Given the description of an element on the screen output the (x, y) to click on. 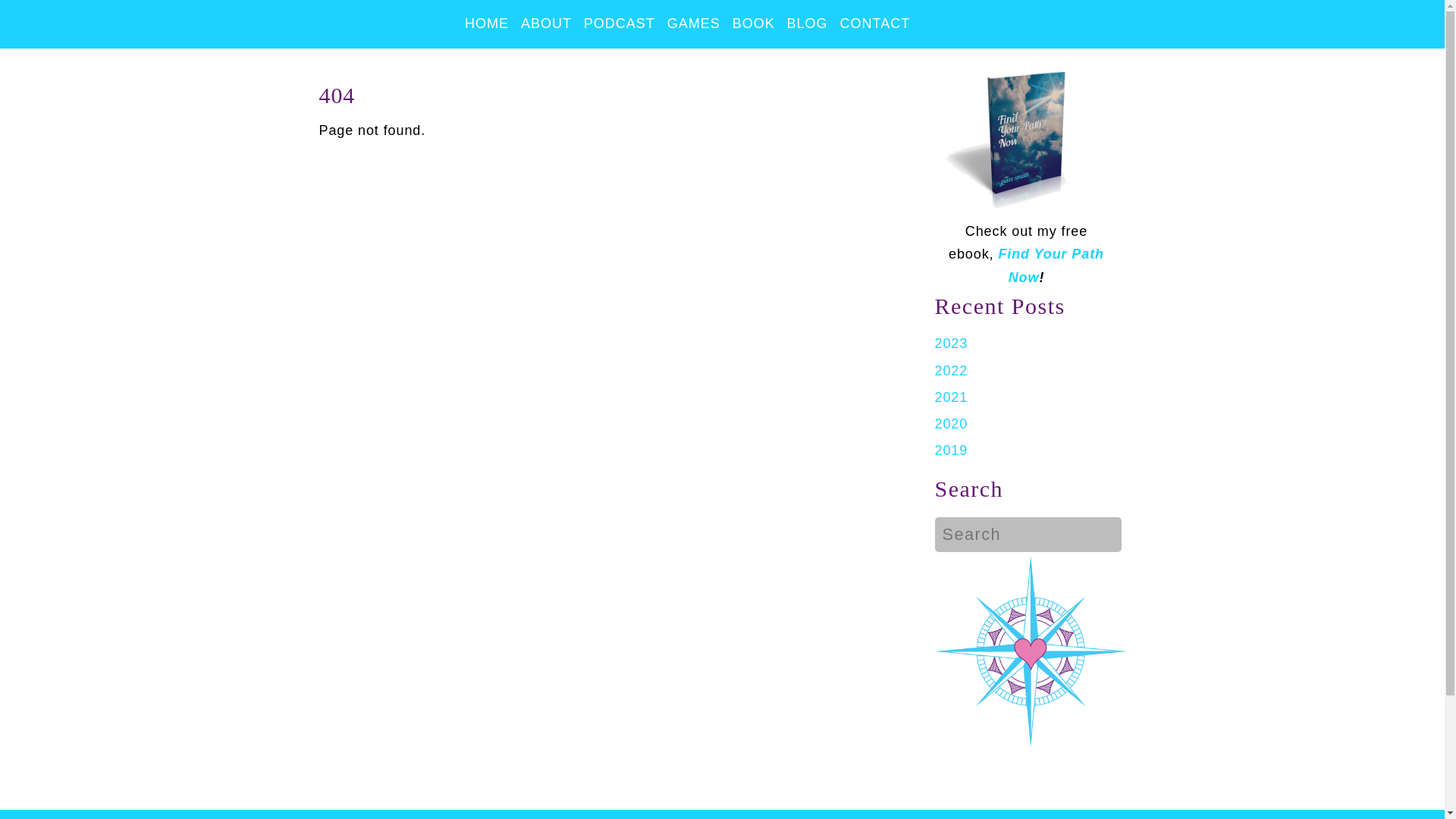
2020 (951, 423)
Find Your Path Now (1050, 265)
BLOG (807, 24)
PODCAST (619, 24)
2019 (951, 450)
TWITTER (968, 24)
FACEBOOK (933, 24)
GAMES (693, 24)
BOOK (753, 24)
ABOUT (545, 24)
2021 (951, 396)
2023 (951, 343)
CONTACT (874, 24)
HOME (486, 24)
2022 (951, 370)
